Given the description of an element on the screen output the (x, y) to click on. 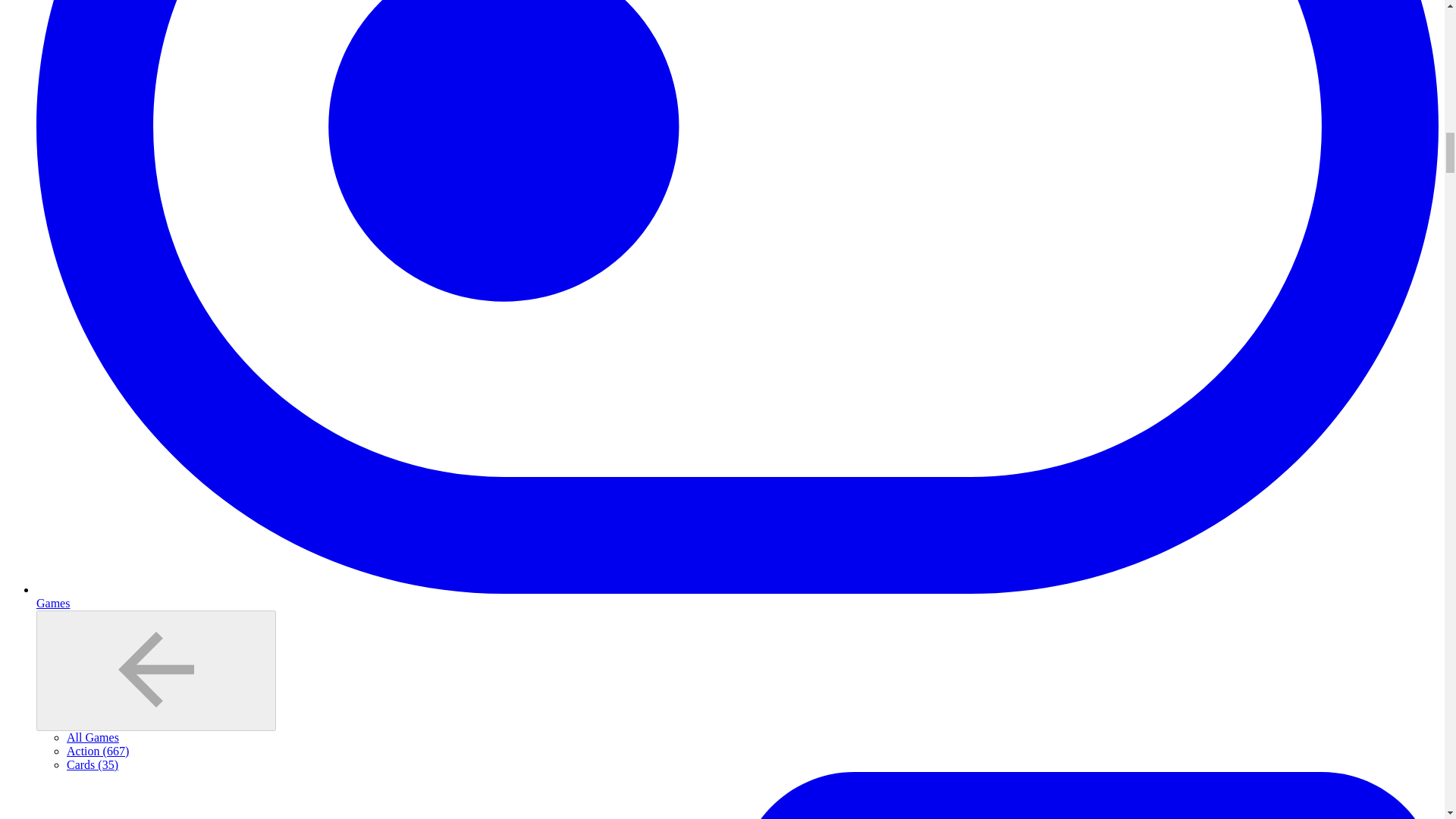
All Games (92, 737)
